Given the description of an element on the screen output the (x, y) to click on. 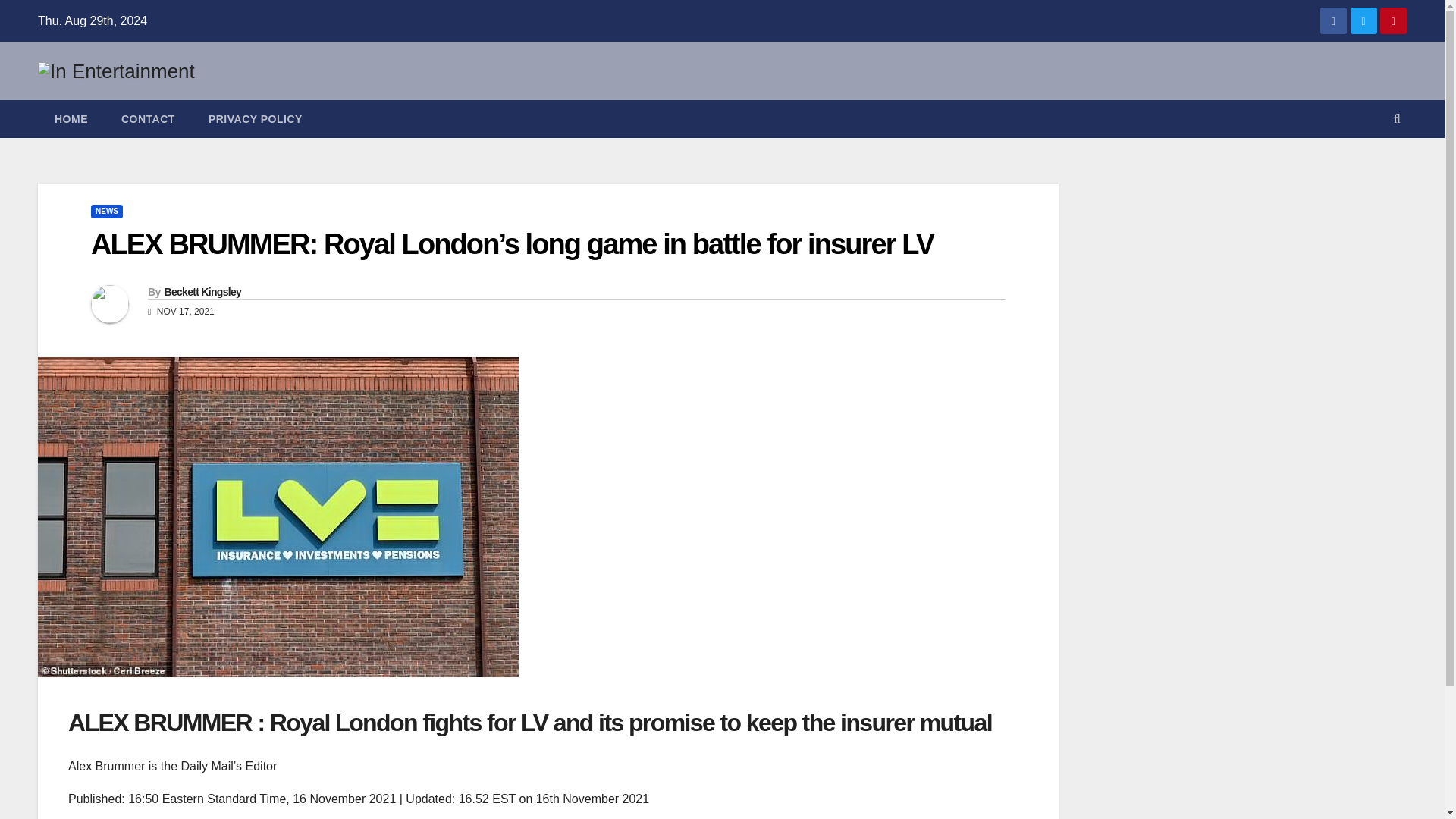
NEWS (106, 211)
Home (70, 118)
CONTACT (148, 118)
Beckett Kingsley (202, 291)
PRIVACY POLICY (255, 118)
HOME (70, 118)
